Given the description of an element on the screen output the (x, y) to click on. 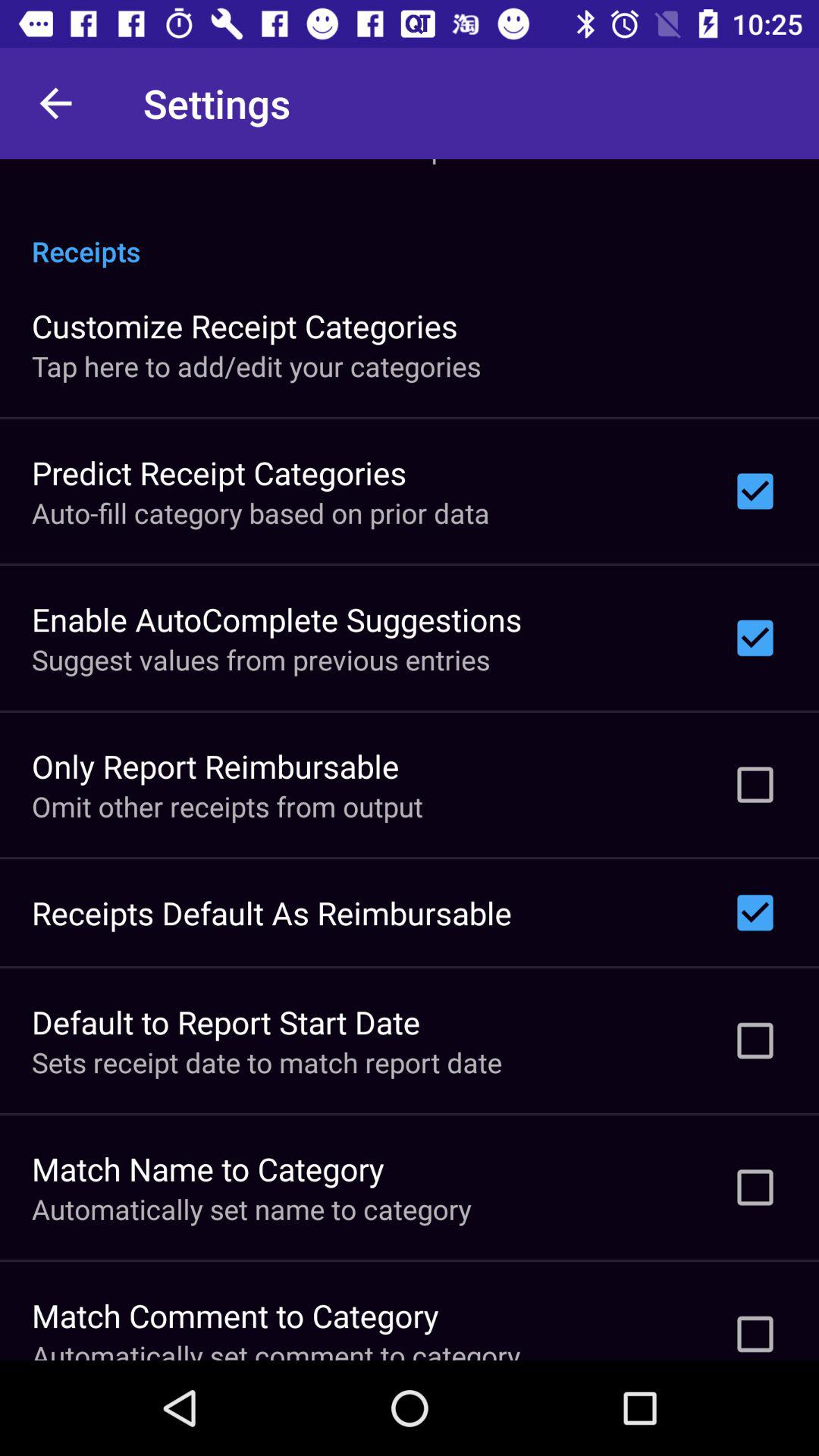
turn on icon above the suggest values from icon (276, 618)
